Given the description of an element on the screen output the (x, y) to click on. 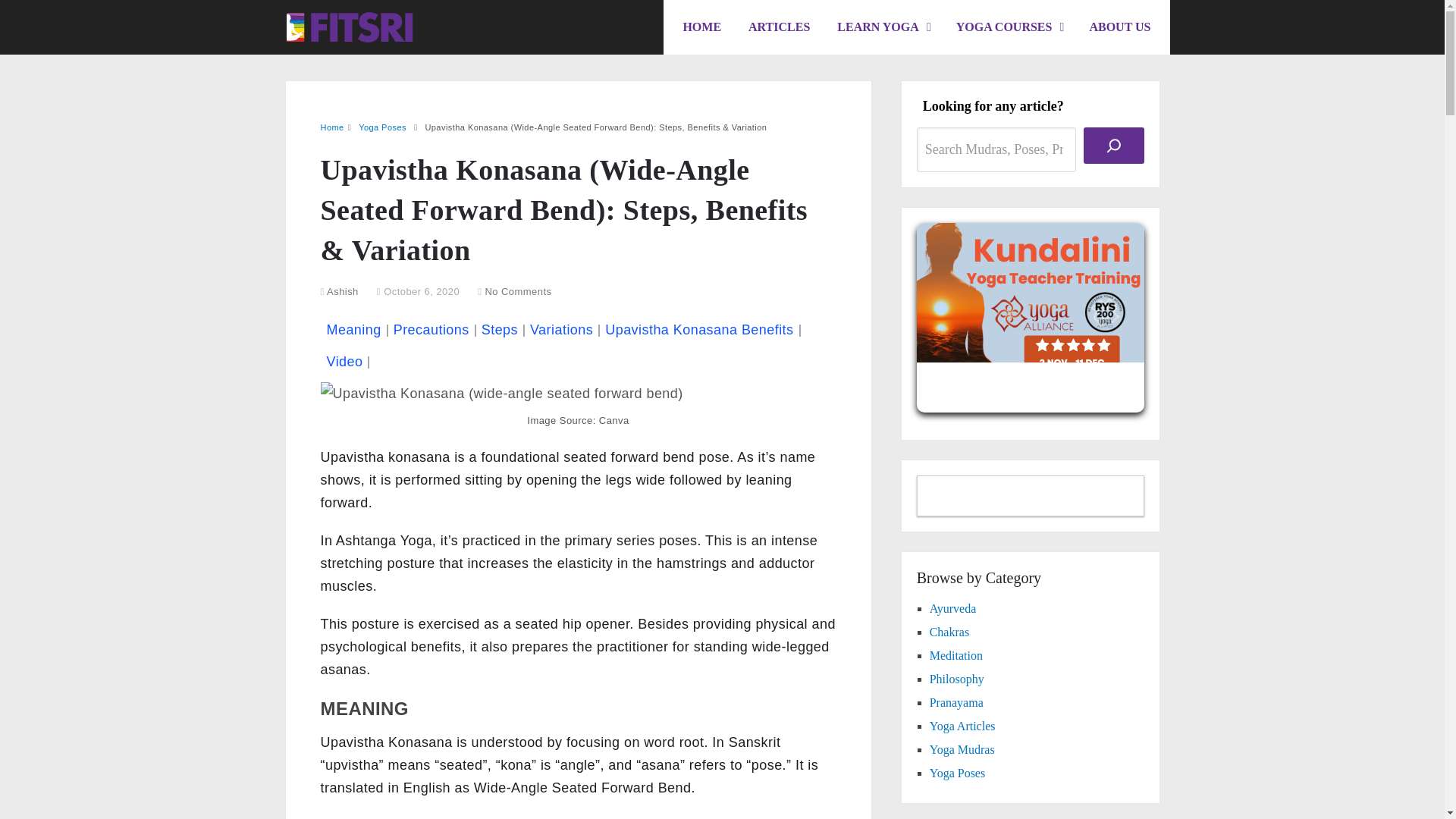
HOME (701, 27)
No Comments (517, 291)
Yoga Poses (382, 126)
ARTICLES (778, 27)
Posts by Ashish (342, 291)
Ashish (342, 291)
ABOUT US (1119, 27)
Home (331, 126)
YOGA COURSES (1009, 27)
LEARN YOGA (882, 27)
